Given the description of an element on the screen output the (x, y) to click on. 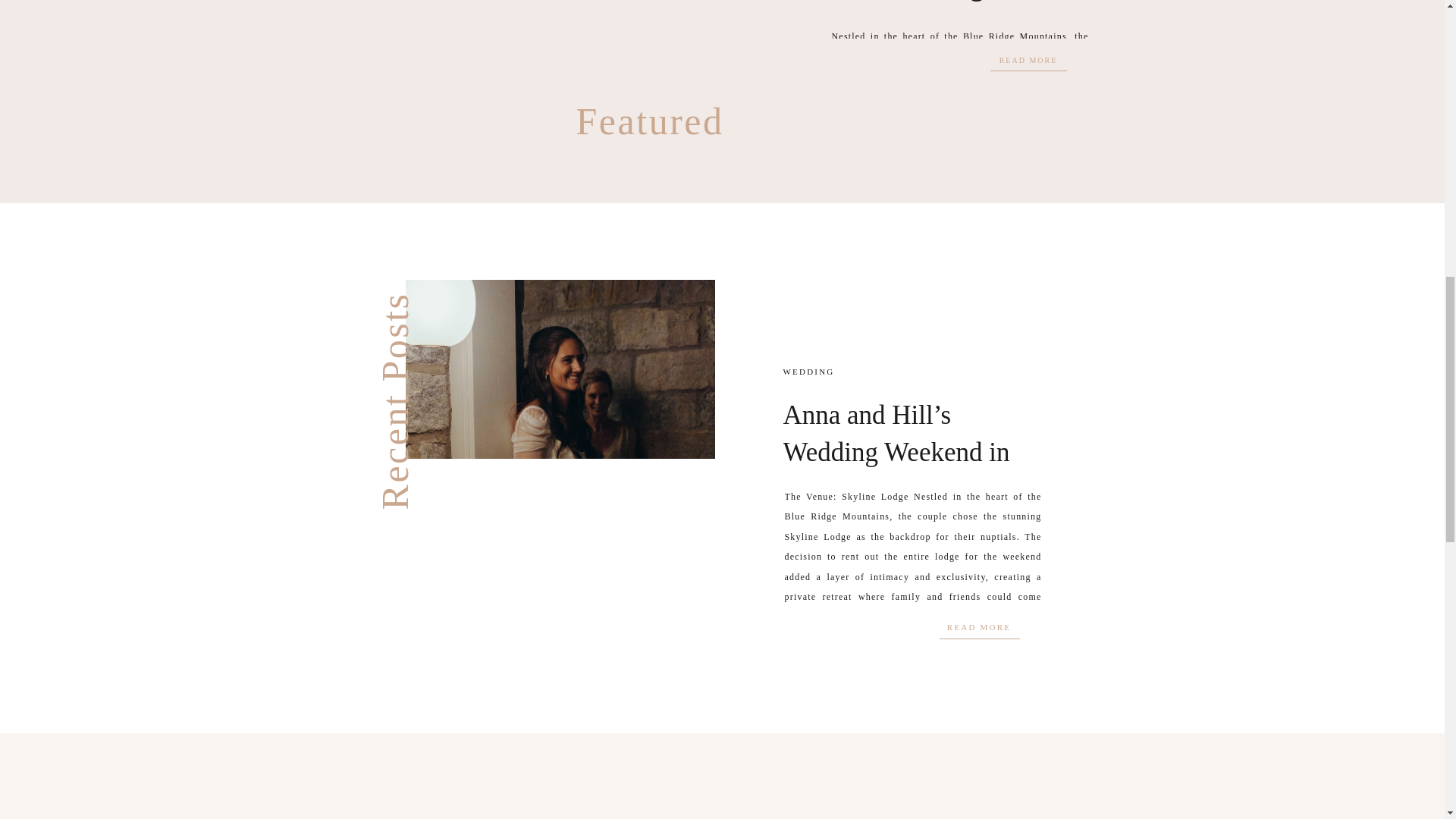
WEDDING (808, 370)
READ MORE (1027, 60)
READ MORE (979, 626)
